Given the description of an element on the screen output the (x, y) to click on. 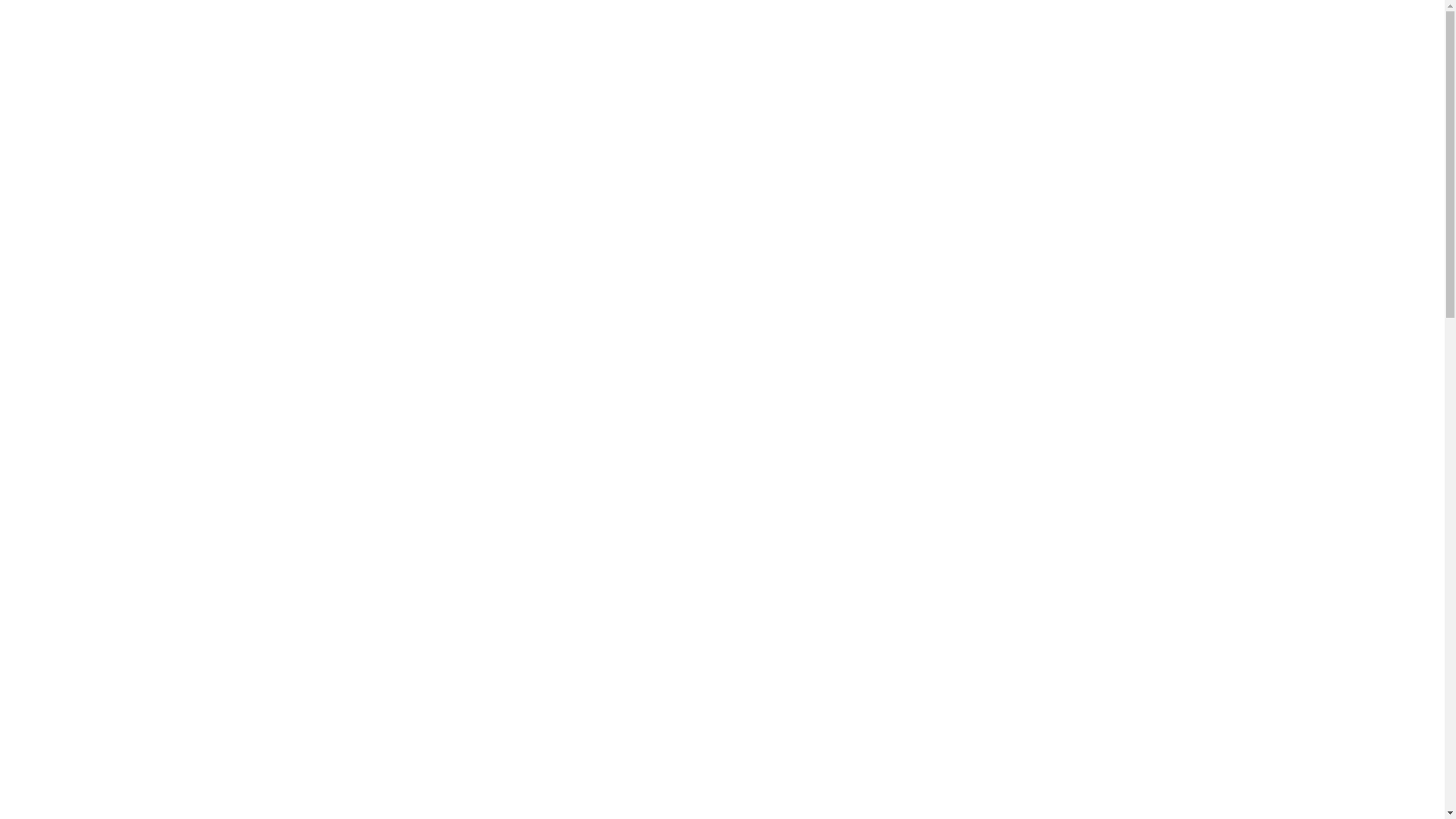
BOOK AN APPOINTMENT Element type: text (1064, 142)
OUR VISION Element type: text (387, 142)
(03) 9431 1138 Element type: text (1016, 49)
CONTACT Element type: text (547, 142)
Contact Us Element type: text (1063, 30)
info@elthamfootclinic.com.au Element type: text (1062, 69)
BLOG Element type: text (612, 142)
SERVICES Element type: text (469, 142)
Eltham Foot Clinic Element type: text (672, 309)
HOME Element type: text (317, 142)
22 Dudley St, Eltham VIC 3095 Element type: text (1063, 88)
